Given the description of an element on the screen output the (x, y) to click on. 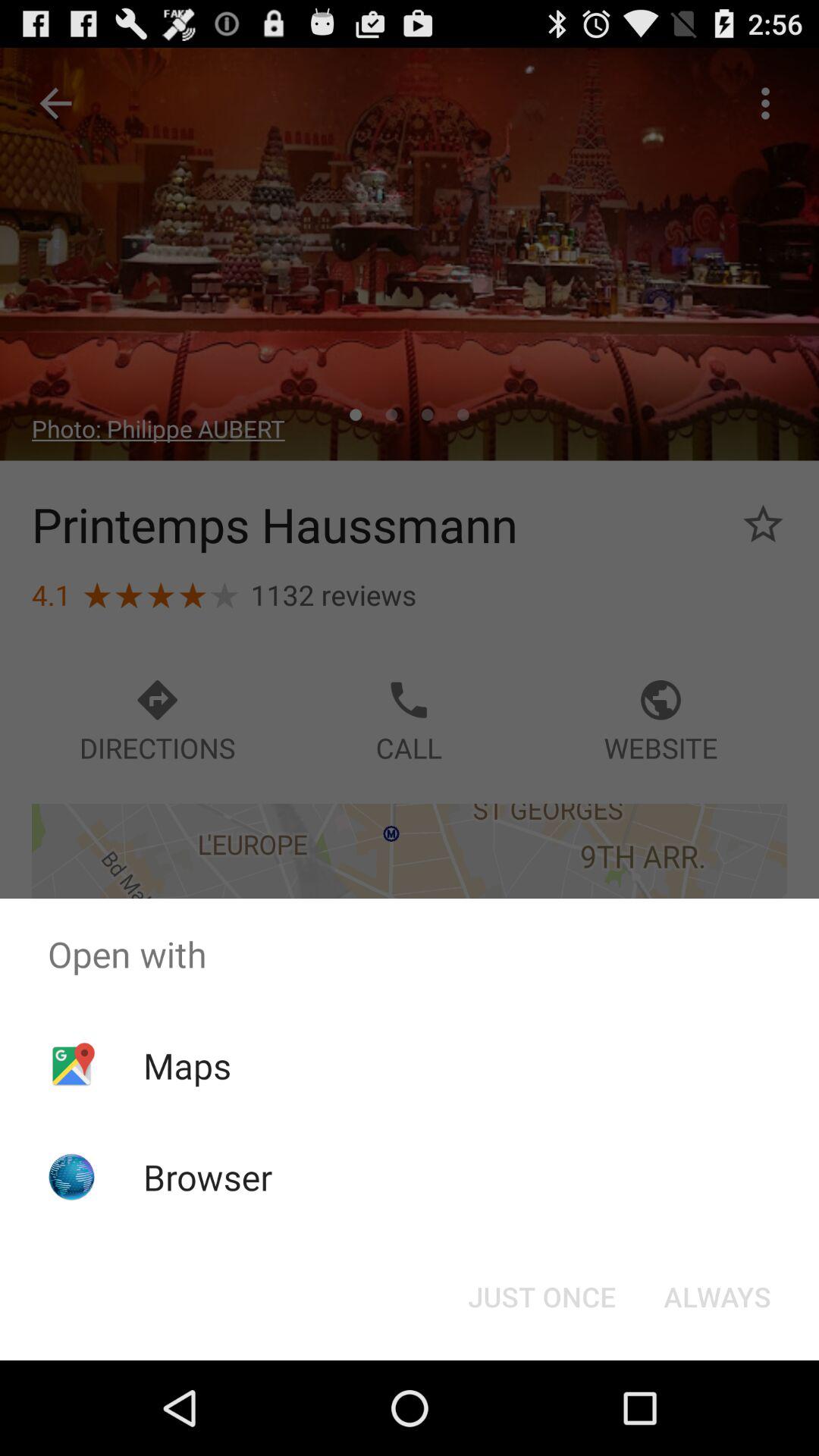
swipe until the maps (187, 1065)
